Given the description of an element on the screen output the (x, y) to click on. 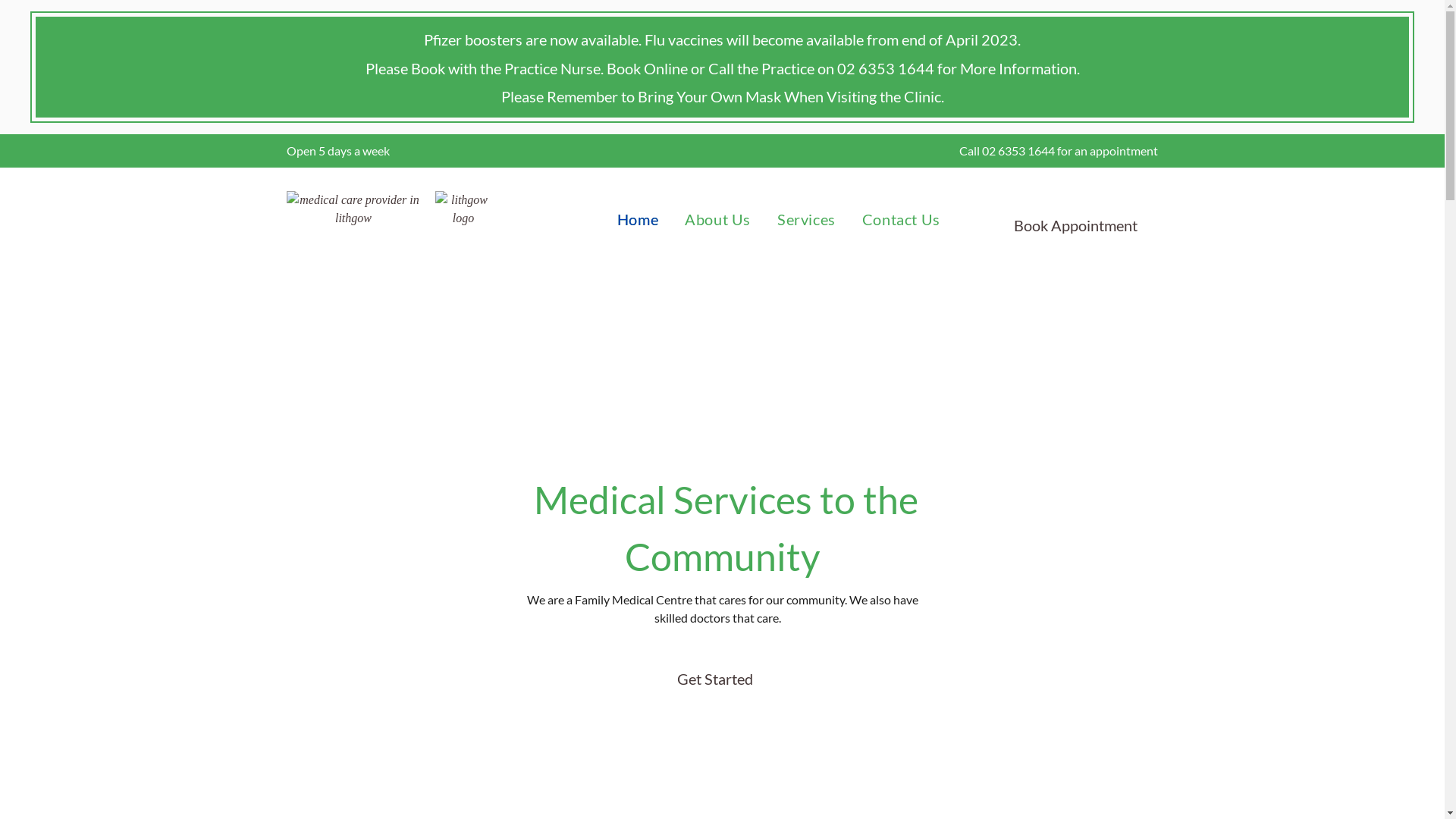
Home Element type: text (624, 218)
Contact Us Element type: text (887, 218)
lithgow medical centre Element type: hover (353, 217)
 6353 1644 Element type: text (1024, 149)
Services Element type: text (792, 218)
02 Element type: text (988, 149)
Get Started Element type: text (714, 680)
About Us Element type: text (704, 218)
f Element type: text (1058, 149)
02 6353 1644 Element type: text (885, 68)
Book Appointment Element type: text (1063, 219)
